Given the description of an element on the screen output the (x, y) to click on. 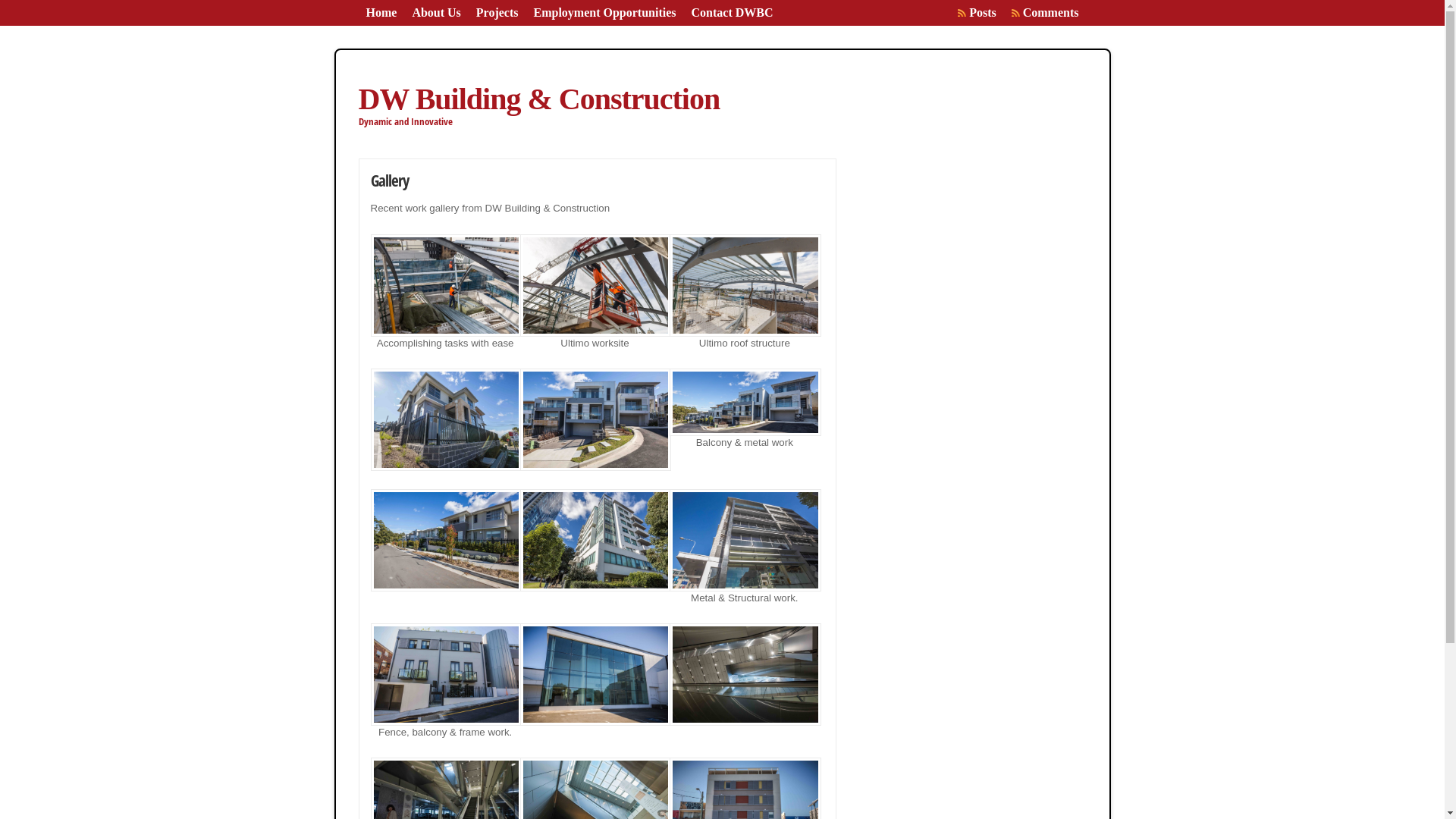
Contact DWBC Element type: text (732, 12)
Projects Element type: text (497, 12)
About Us Element type: text (435, 12)
Comments Element type: text (1050, 12)
DW Building & Construction Element type: text (538, 98)
Posts Element type: text (982, 12)
Home Element type: text (380, 12)
Employment Opportunities Element type: text (605, 12)
